Given the description of an element on the screen output the (x, y) to click on. 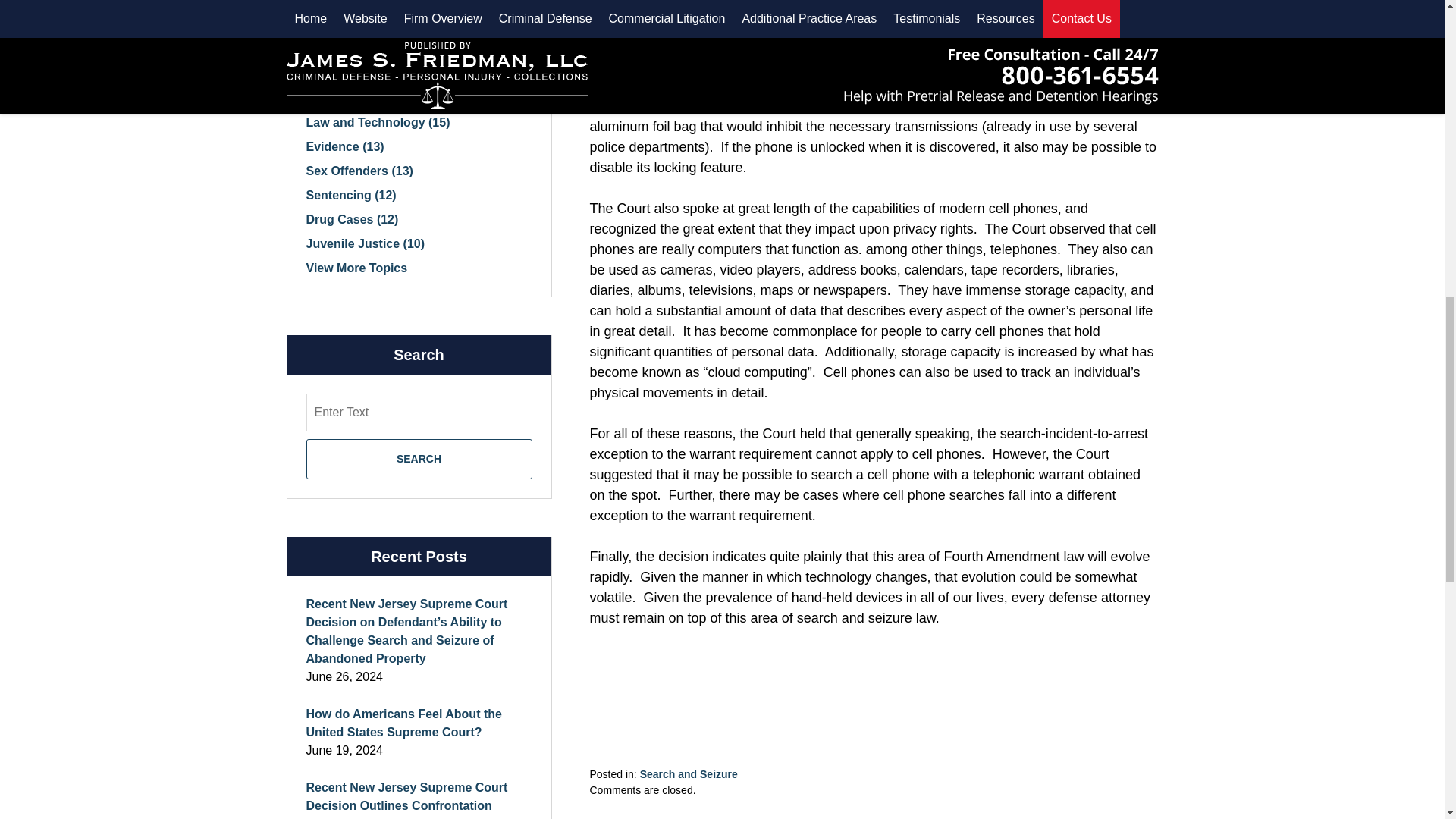
Search and Seizure (689, 774)
View all posts in Search and Seizure (689, 774)
